Given the description of an element on the screen output the (x, y) to click on. 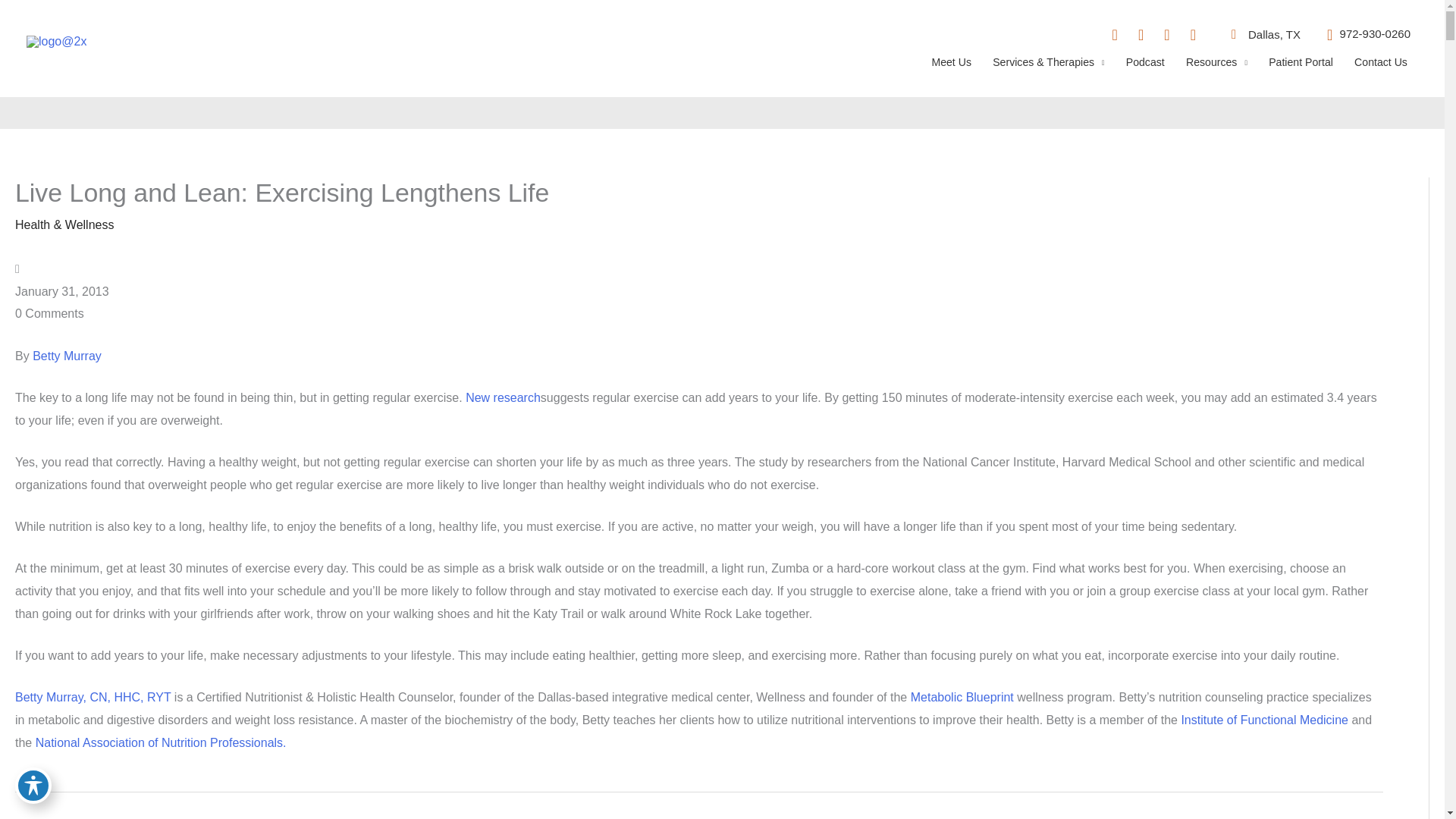
Resources (1215, 69)
Dallas, TX (1260, 34)
Contact Us (1380, 69)
What you need to know about artificial sweeteners (1347, 818)
Patient Portal (1300, 69)
972-930-0260 (1363, 34)
Meet Us (950, 69)
Podcast (1144, 69)
